Given the description of an element on the screen output the (x, y) to click on. 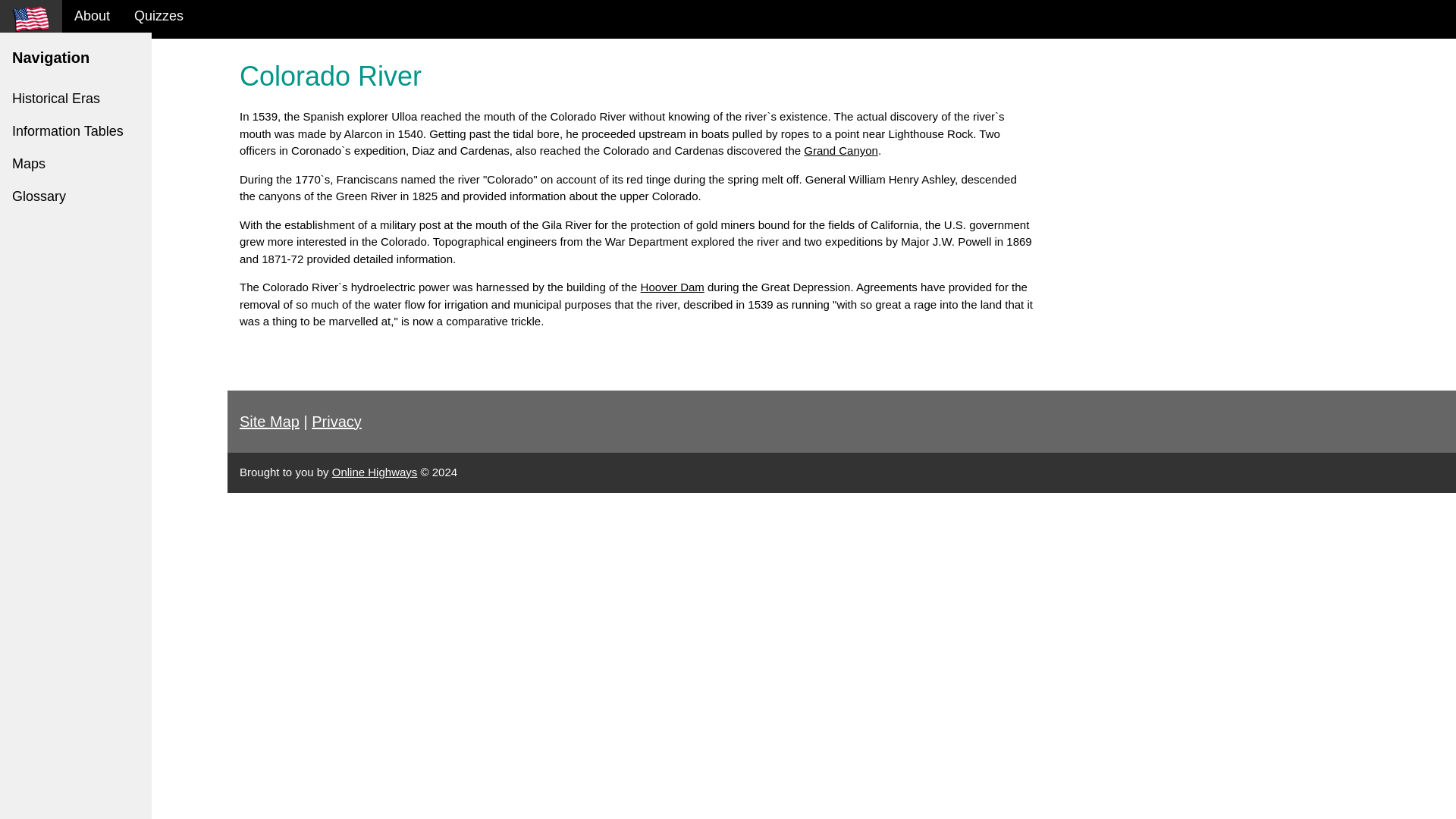
Historical Eras (69, 98)
Site Map (269, 421)
Online Highways (374, 472)
Privacy (336, 421)
Grand Canyon (840, 150)
Hoover Dam (672, 286)
About (92, 16)
Maps (74, 164)
Information Tables (72, 131)
Glossary (75, 196)
Quizzes (158, 16)
